Given the description of an element on the screen output the (x, y) to click on. 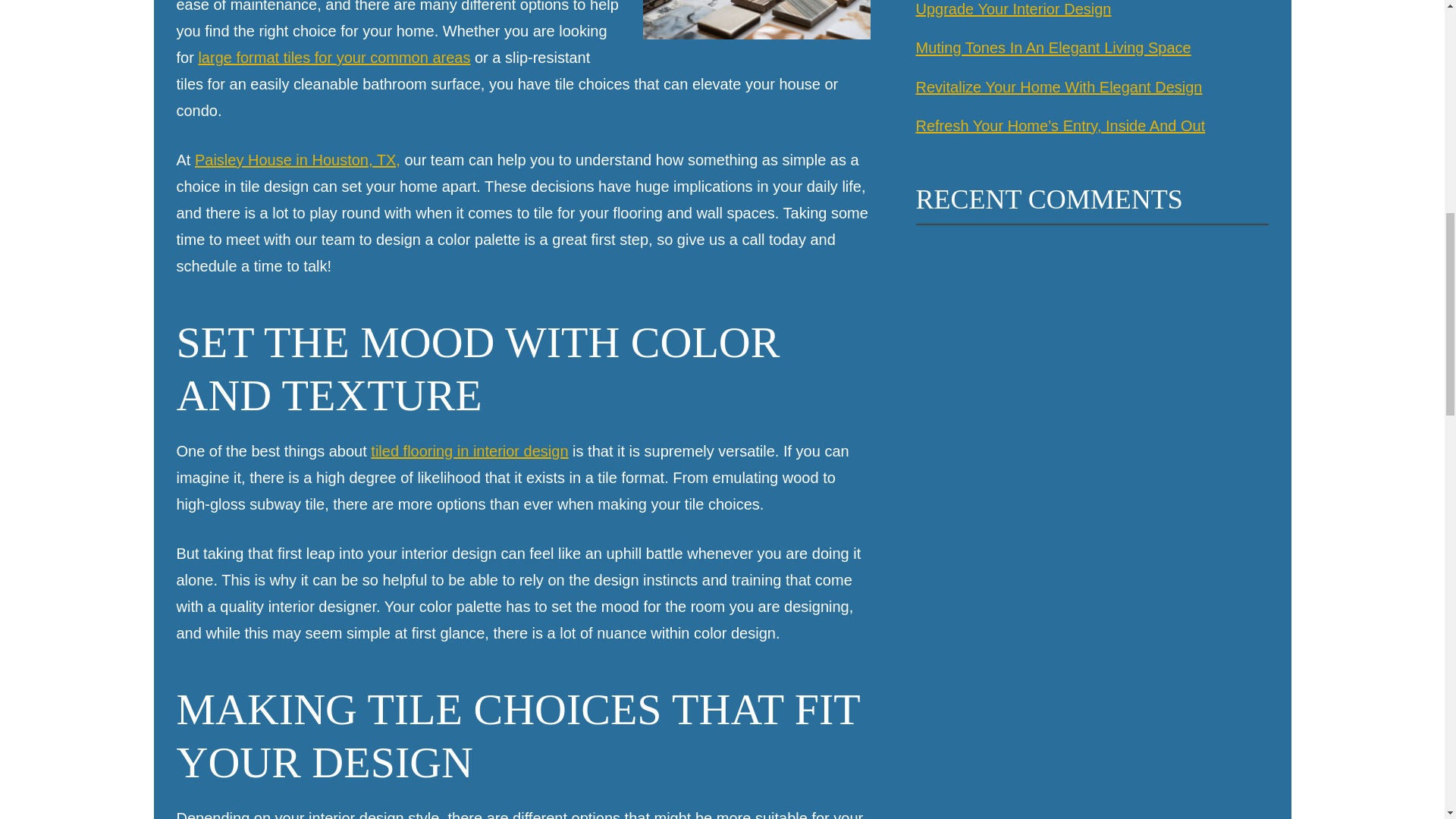
Paisley House in Houston, TX, (297, 159)
tiled flooring in interior design (469, 451)
Revitalize Your Home With Elegant Design (1058, 86)
large format tiles for your common areas (334, 57)
Muting Tones In An Elegant Living Space (1053, 48)
Upgrade Your Interior Design (1013, 8)
